Given the description of an element on the screen output the (x, y) to click on. 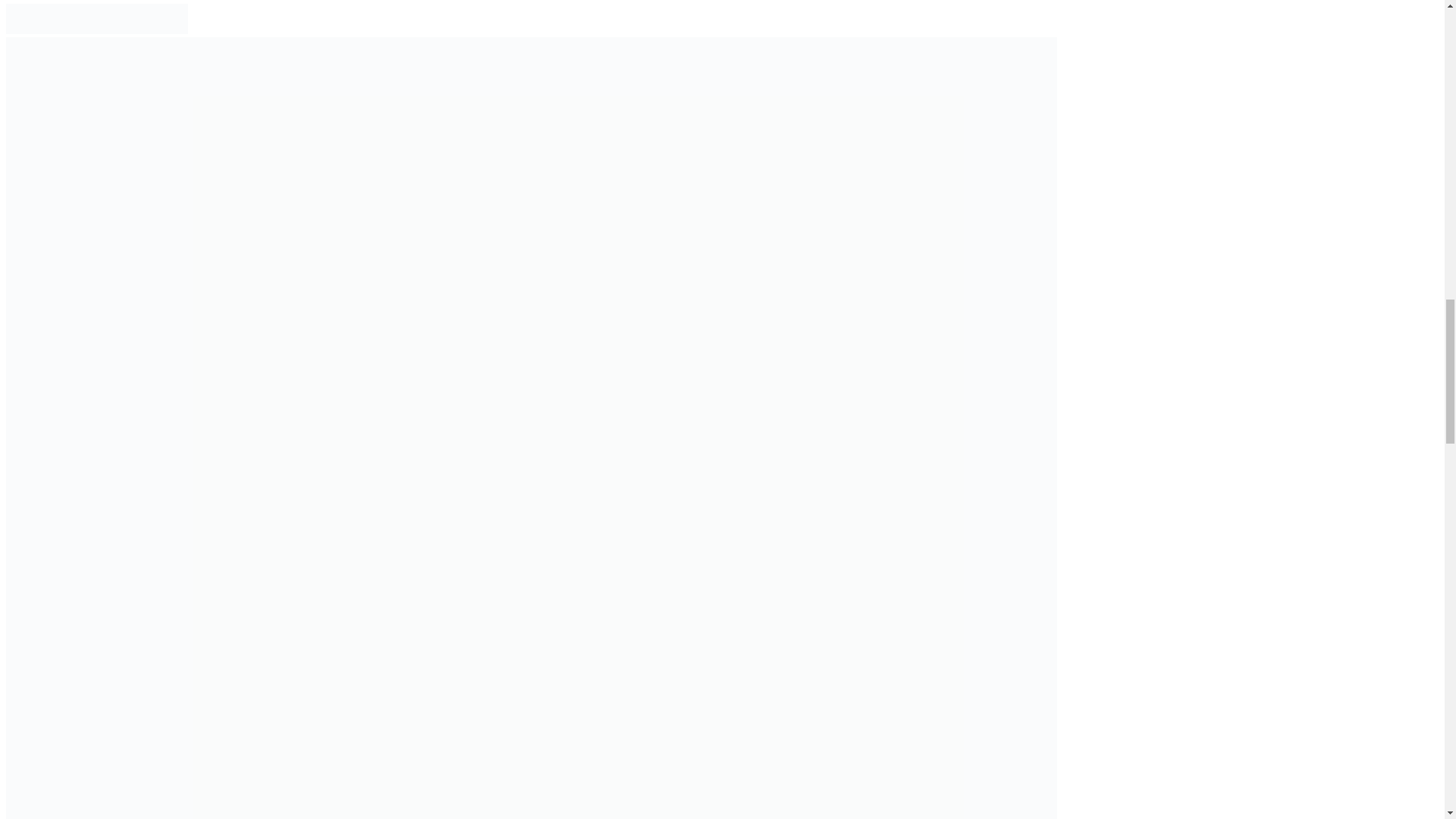
Facebook (81, 29)
Twitter (51, 29)
Viber (142, 29)
Telegram (112, 29)
Email (20, 29)
WhatsApp (172, 29)
